Given the description of an element on the screen output the (x, y) to click on. 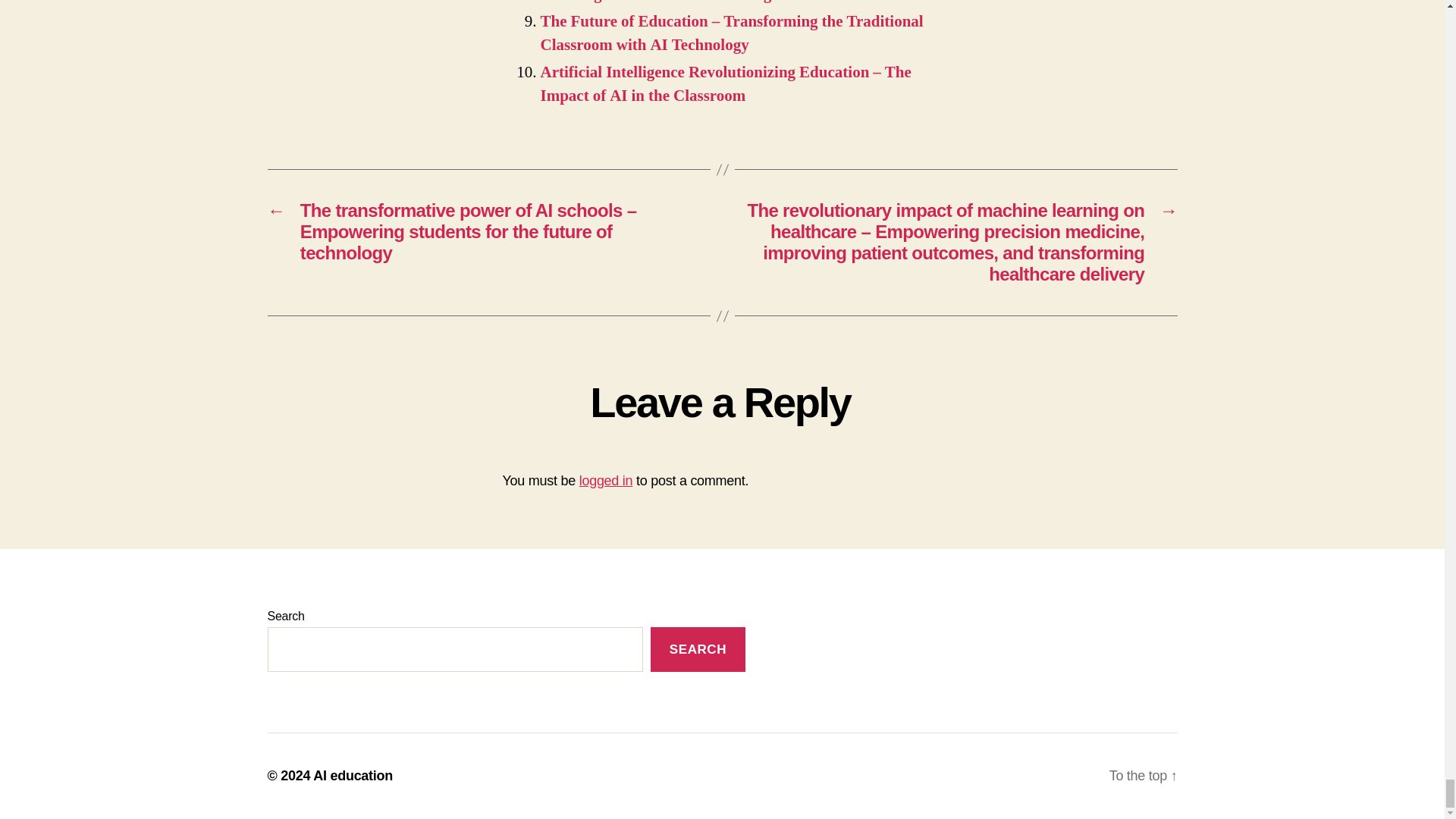
SEARCH (697, 649)
logged in (606, 480)
AI education (353, 775)
